Given the description of an element on the screen output the (x, y) to click on. 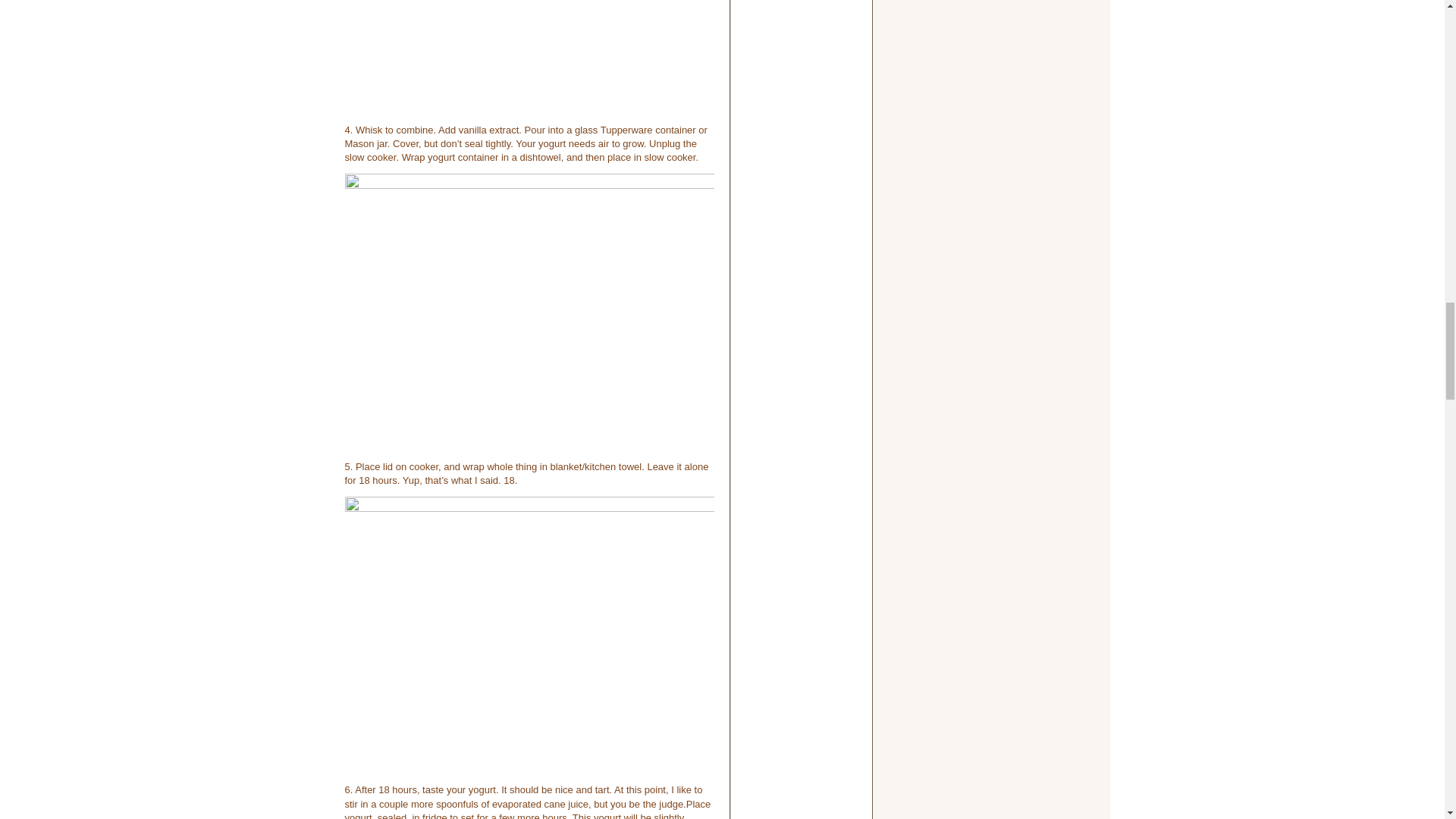
addprobiotic (528, 57)
wrapindishtowel (528, 312)
wrapcrockpotintowel (528, 634)
